Given the description of an element on the screen output the (x, y) to click on. 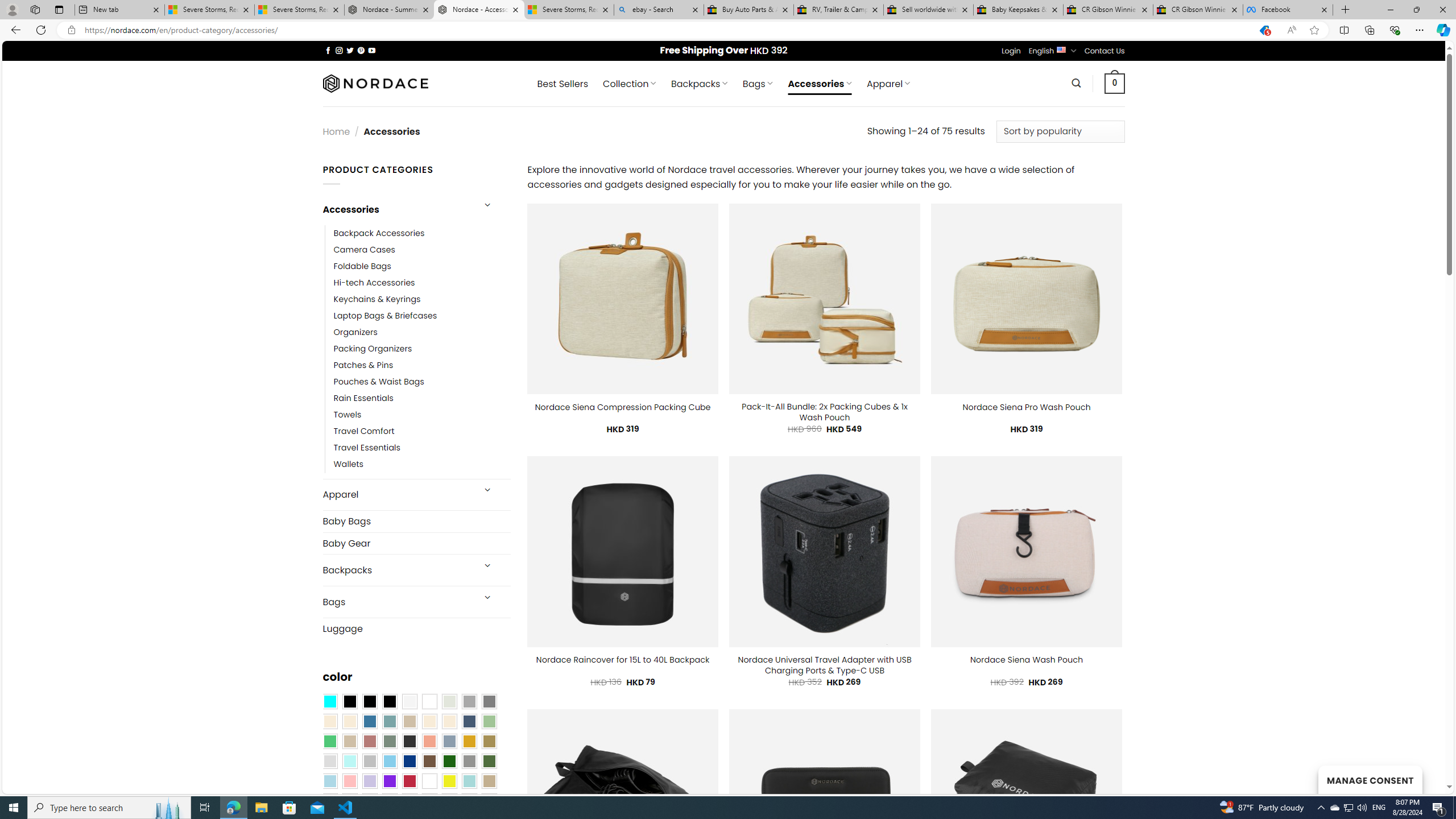
Caramel (429, 721)
Black (369, 701)
Blue Sage (389, 721)
Pouches & Waist Bags (422, 381)
Hale Navy (468, 721)
Organizers (422, 332)
Light Blue (329, 780)
All Gray (488, 701)
Follow on Facebook (327, 49)
Foldable Bags (422, 265)
Dark Green (449, 761)
Travel Essentials (422, 448)
